Given the description of an element on the screen output the (x, y) to click on. 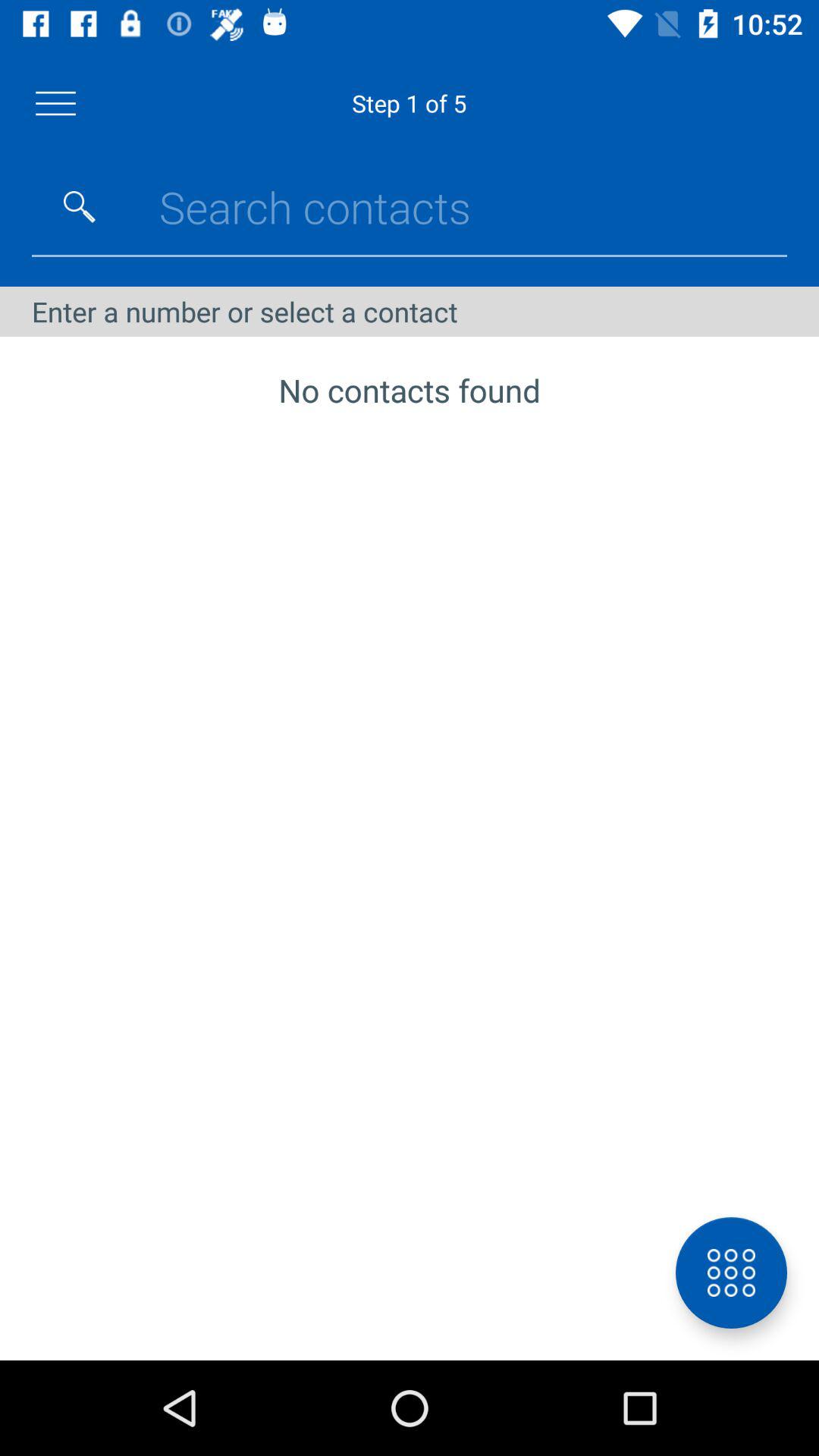
launch item to the left of the search contacts item (79, 206)
